Given the description of an element on the screen output the (x, y) to click on. 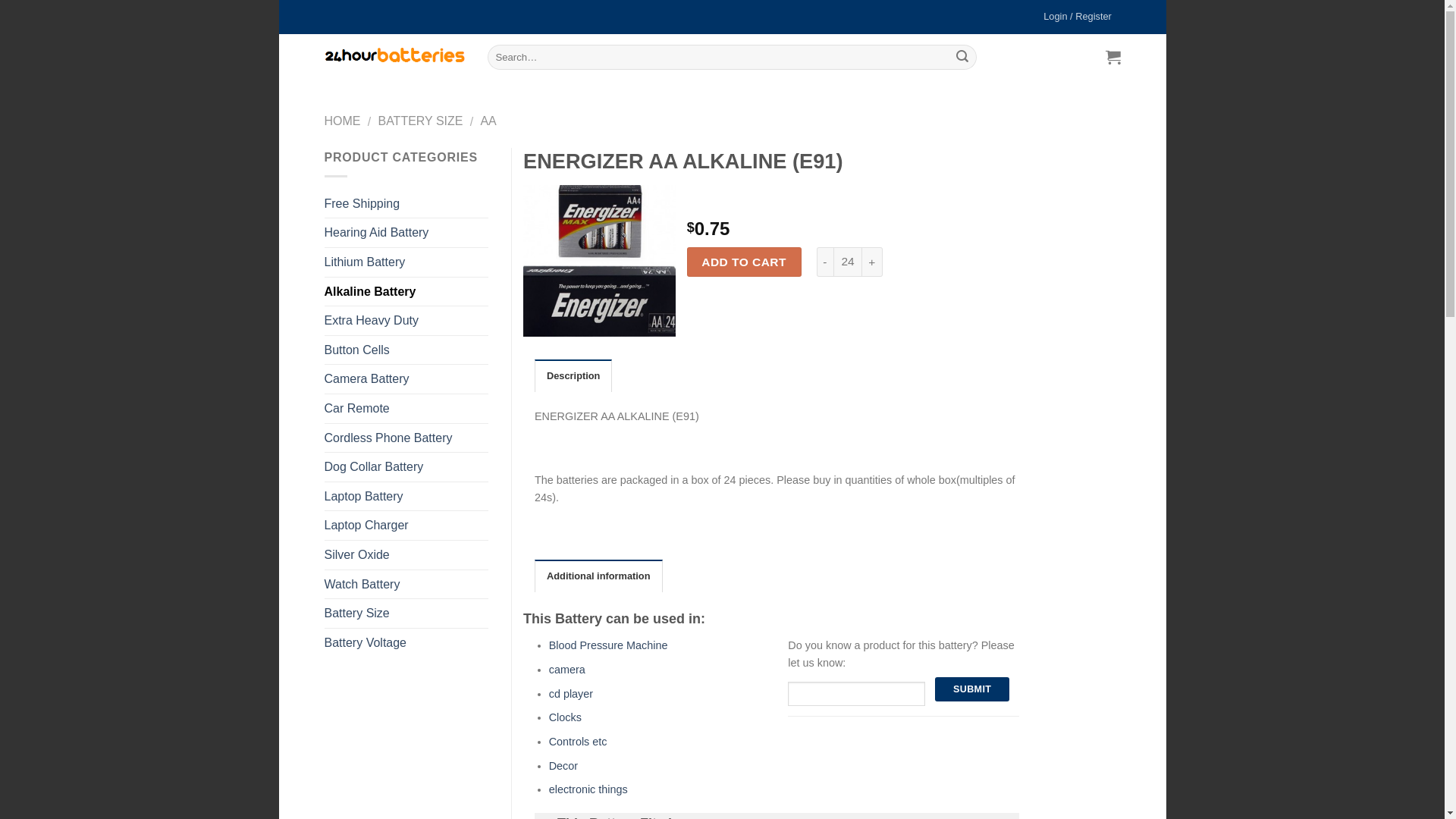
Cart Element type: hover (1110, 56)
  Submit   Element type: text (972, 689)
HOME Element type: text (342, 120)
Alkaline Battery Element type: text (406, 291)
BATTERY SIZE Element type: text (419, 120)
Blood Pressure Machine Element type: text (608, 645)
ENERGIZER AA ALKALINE (E91) 1 Element type: hover (599, 261)
AA Element type: text (487, 120)
Battery Size Element type: text (406, 613)
cd player Element type: text (571, 693)
Hearing Aid Battery Element type: text (406, 232)
Laptop Battery Element type: text (406, 496)
Free Shipping Element type: text (406, 203)
Controls etc Element type: text (578, 741)
Watch Battery Element type: text (406, 584)
Button Cells Element type: text (406, 349)
Additional information Element type: text (598, 575)
Battery Voltage Element type: text (406, 642)
Clocks Element type: text (565, 717)
Login / Register Element type: text (1077, 17)
electronic things Element type: text (588, 789)
Lithium Battery Element type: text (406, 261)
Extra Heavy Duty Element type: text (406, 320)
Camera Battery Element type: text (406, 378)
Laptop Charger Element type: text (406, 525)
camera Element type: text (567, 669)
Silver Oxide Element type: text (406, 554)
Skip to content Element type: text (279, 0)
Dog Collar Battery Element type: text (406, 466)
Description Element type: text (572, 375)
Decor Element type: text (563, 765)
ADD TO CART Element type: text (744, 261)
Qty Element type: hover (847, 261)
Cordless Phone Battery Element type: text (406, 437)
Car Remote Element type: text (406, 408)
24Hour Batteries -  Element type: hover (394, 56)
